Given the description of an element on the screen output the (x, y) to click on. 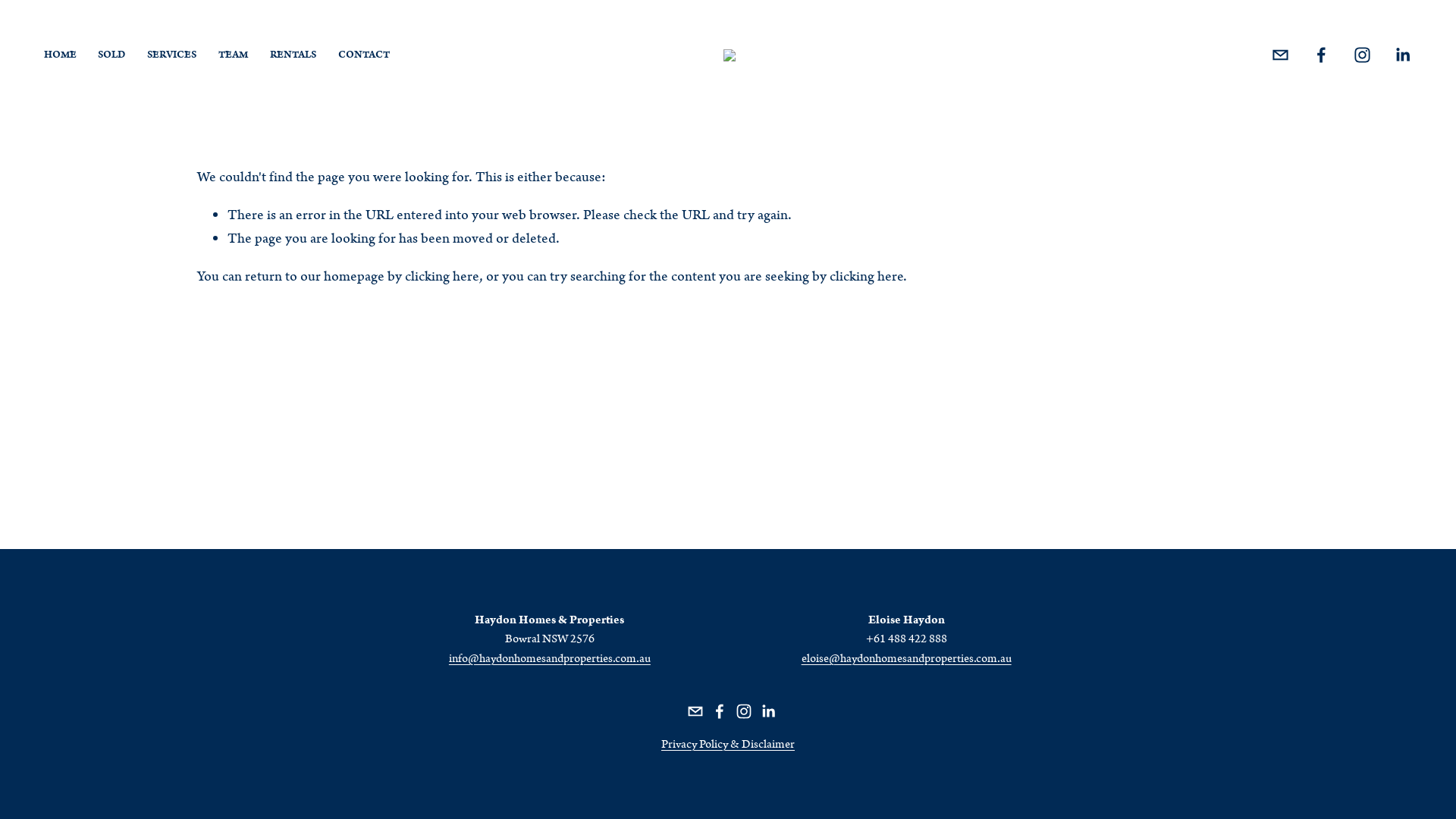
TEAM Element type: text (232, 54)
Privacy Policy & Disclaimer Element type: text (727, 744)
clicking here Element type: text (441, 276)
CONTACT Element type: text (363, 54)
HOME Element type: text (59, 54)
SERVICES Element type: text (171, 54)
SOLD Element type: text (111, 54)
info@haydonhomesandproperties.com.au Element type: text (549, 658)
clicking here Element type: text (866, 276)
RENTALS Element type: text (292, 54)
eloise@haydonhomesandproperties.com.au Element type: text (906, 658)
